Given the description of an element on the screen output the (x, y) to click on. 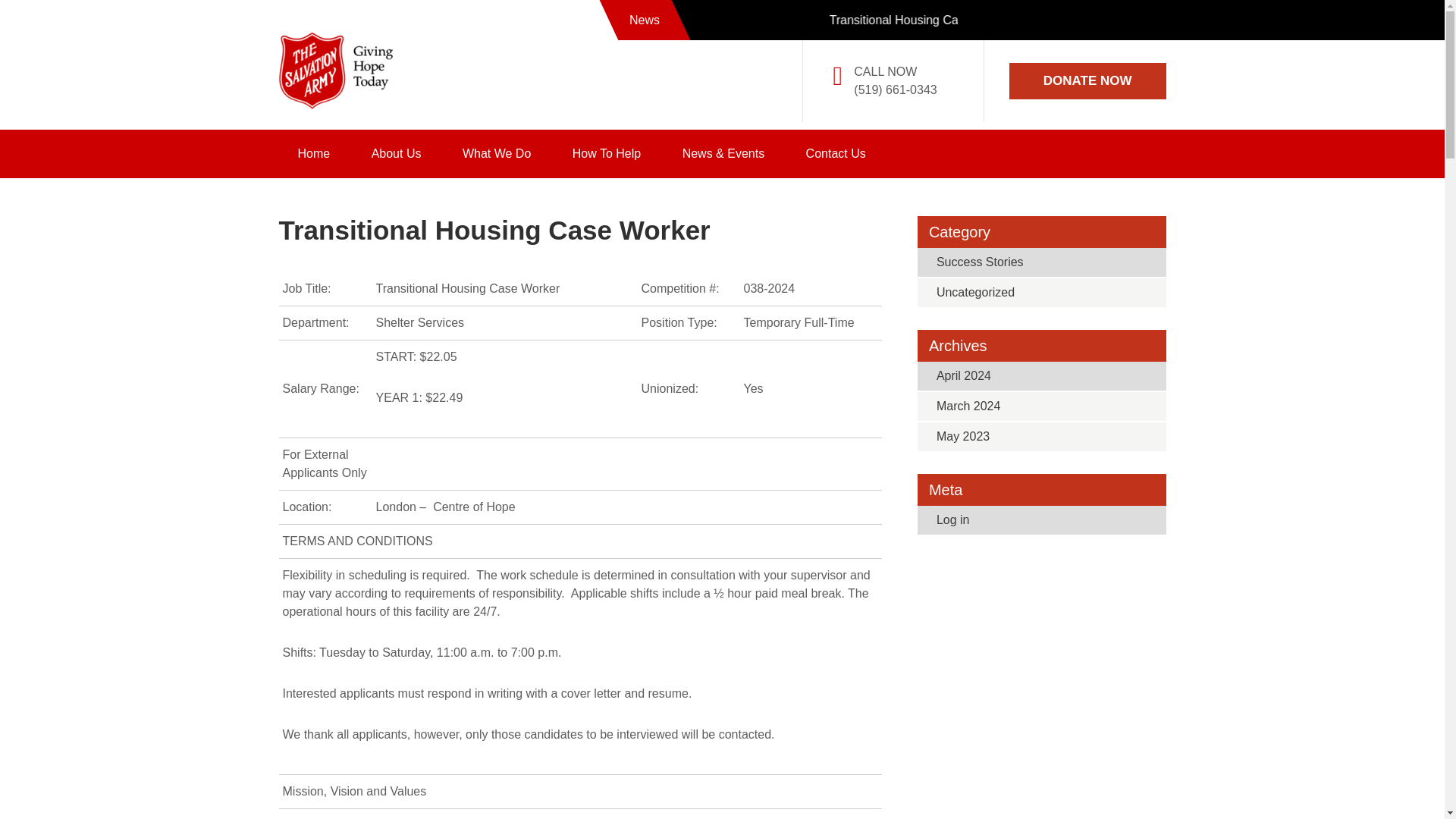
About Us (396, 153)
April 2024 (963, 375)
March 2024 (968, 405)
How To Help (606, 153)
Contact Us (836, 153)
DONATE NOW (1087, 81)
May 2023 (963, 436)
Success Stories (979, 261)
Home (314, 153)
What We Do (497, 153)
